Given the description of an element on the screen output the (x, y) to click on. 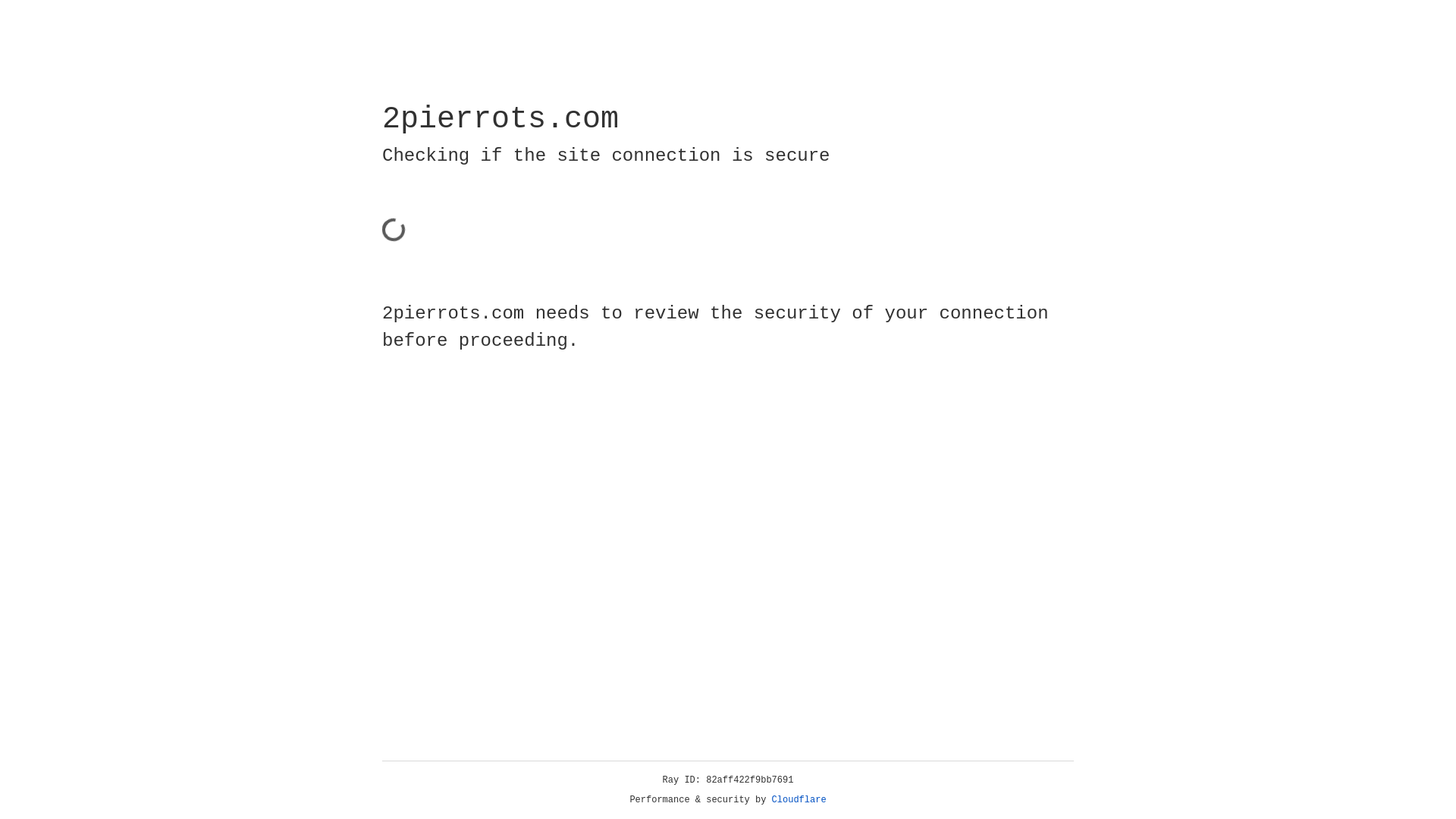
Cloudflare Element type: text (798, 799)
